Given the description of an element on the screen output the (x, y) to click on. 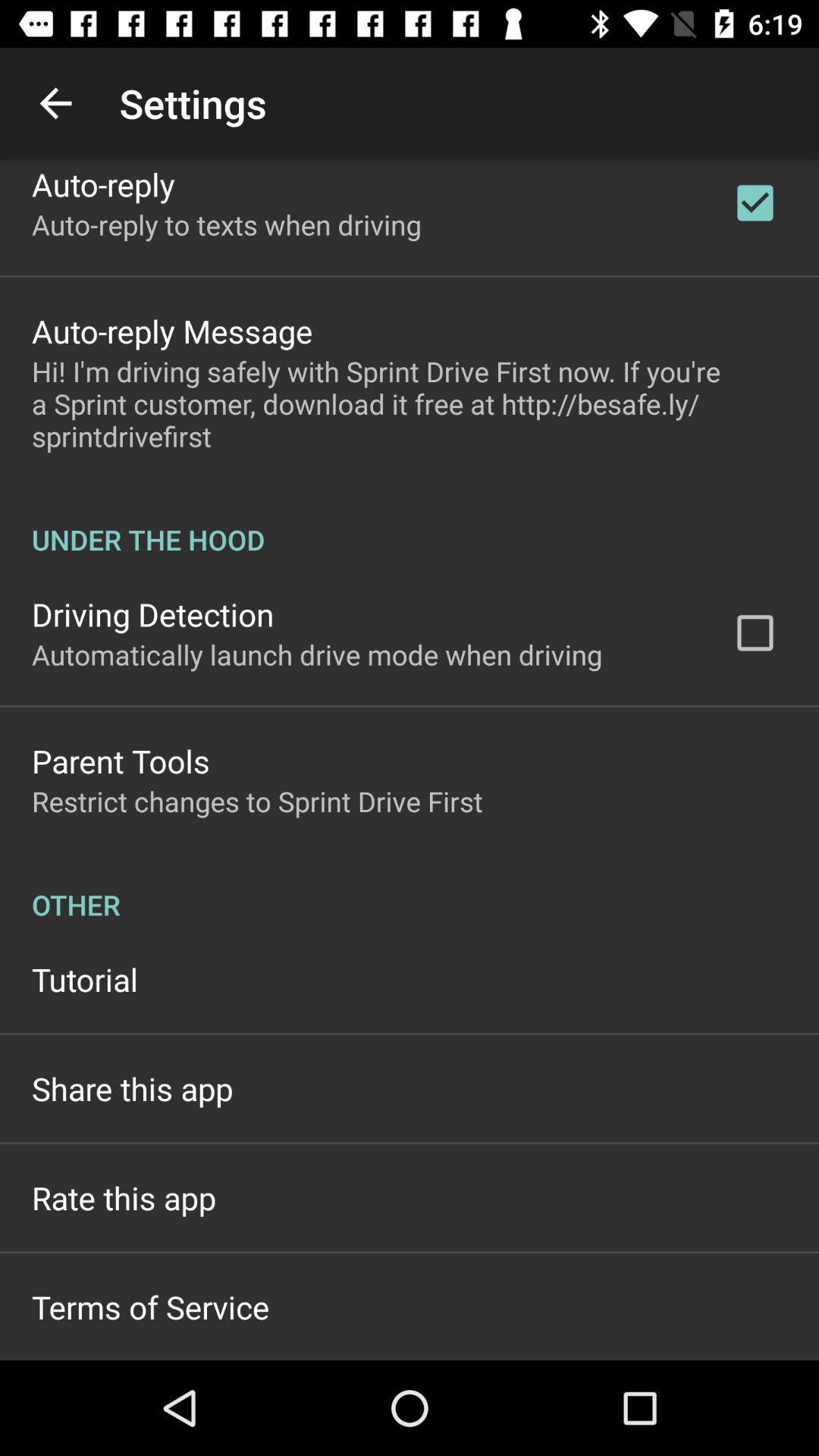
click the driving detection item (152, 613)
